Given the description of an element on the screen output the (x, y) to click on. 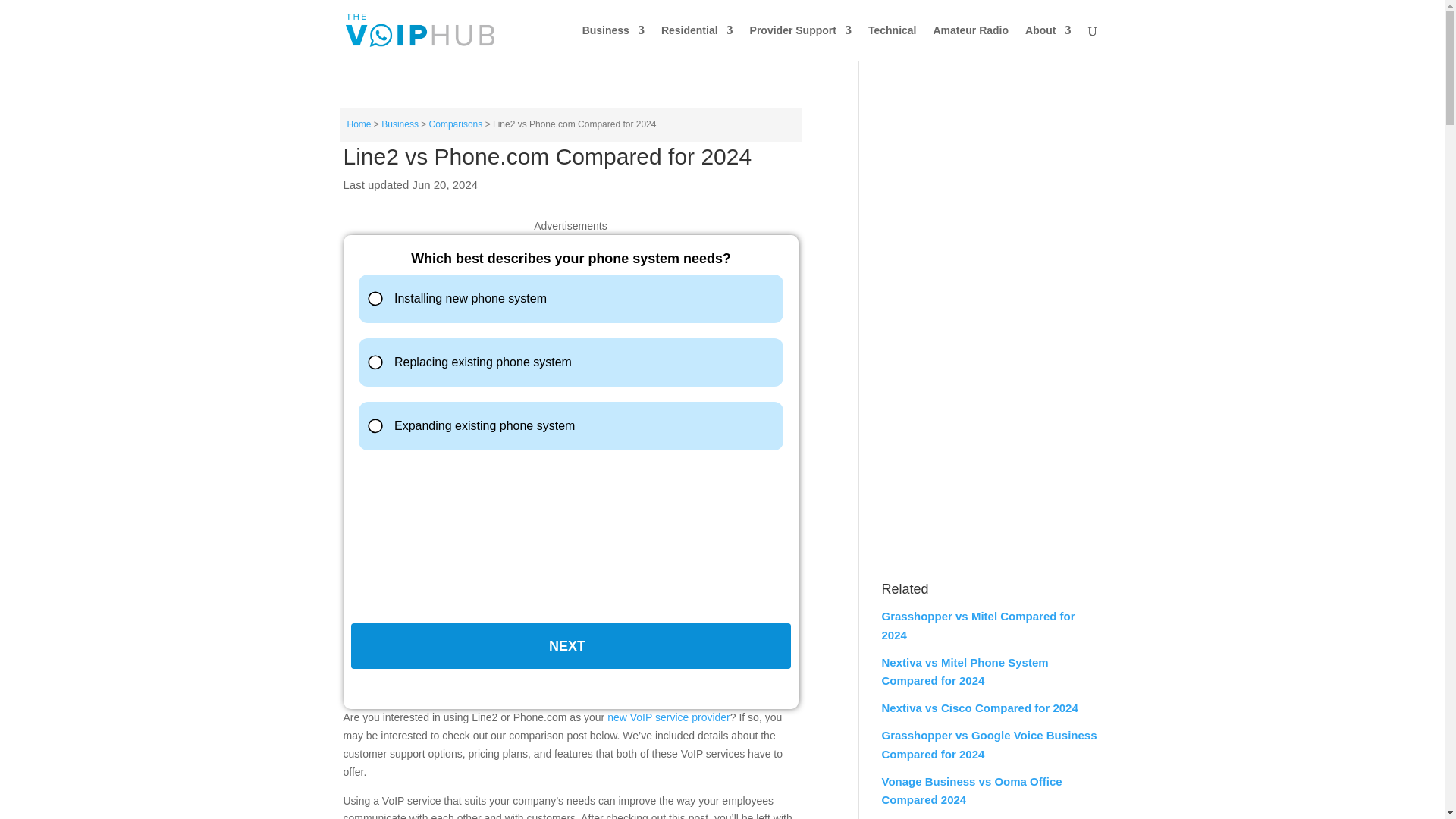
Business (613, 42)
Go to TheVoIPHub. (359, 123)
Go to the Comparisons category archives. (456, 123)
Technical (892, 42)
Vonage Business vs Ooma Office Compared 2024 (970, 790)
Amateur Radio (971, 42)
Residential (697, 42)
new VoIP service provider (668, 717)
Business (400, 123)
